Given the description of an element on the screen output the (x, y) to click on. 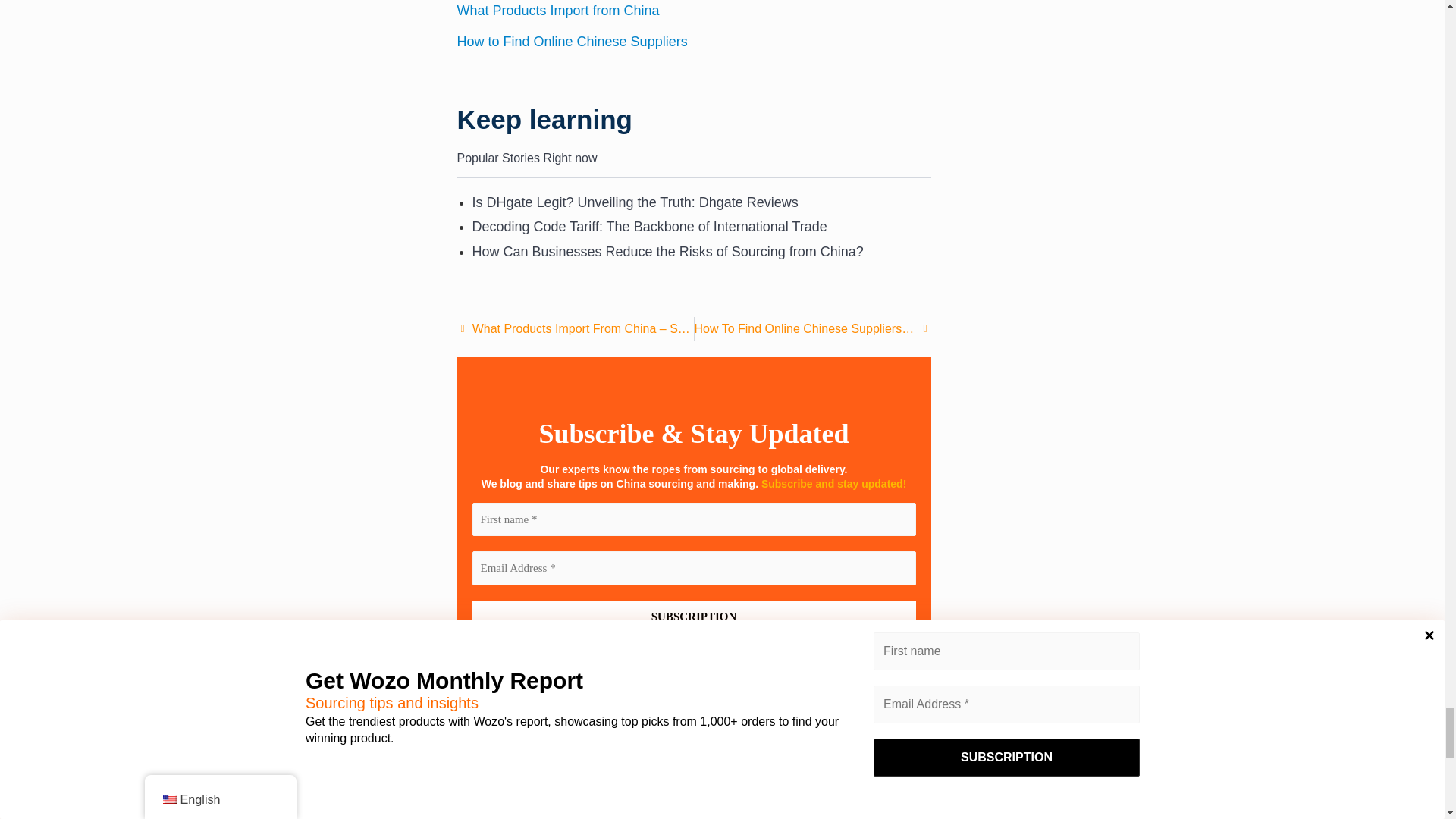
Email Address (693, 568)
First name (693, 519)
SUBSCRIPTION (693, 616)
